Given the description of an element on the screen output the (x, y) to click on. 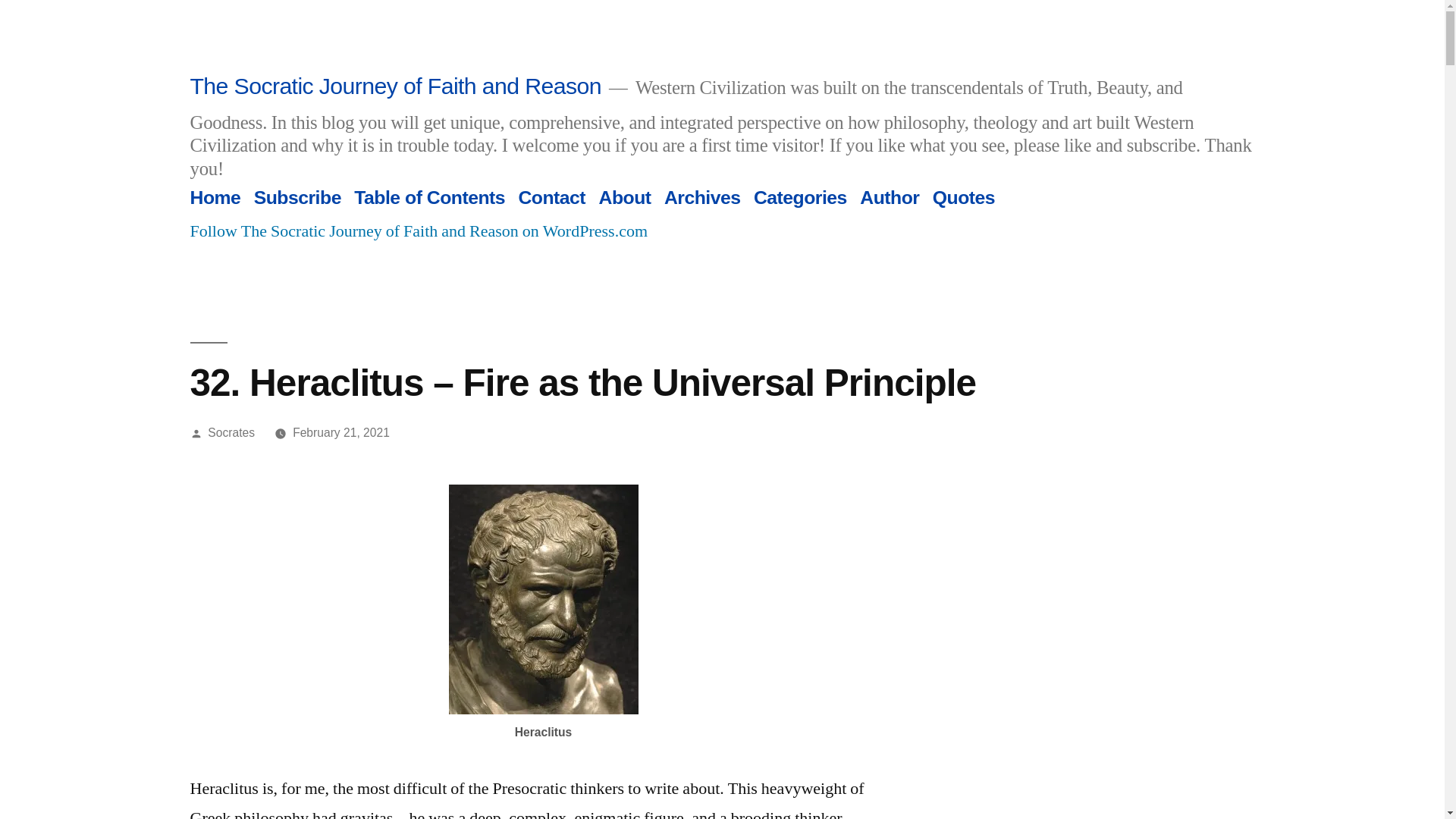
Home (214, 197)
Quotes (963, 197)
The Socratic Journey of Faith and Reason (394, 85)
Table of Contents (429, 197)
Categories (800, 197)
Author (889, 197)
About (624, 197)
Subscribe (296, 197)
February 21, 2021 (341, 431)
